Given the description of an element on the screen output the (x, y) to click on. 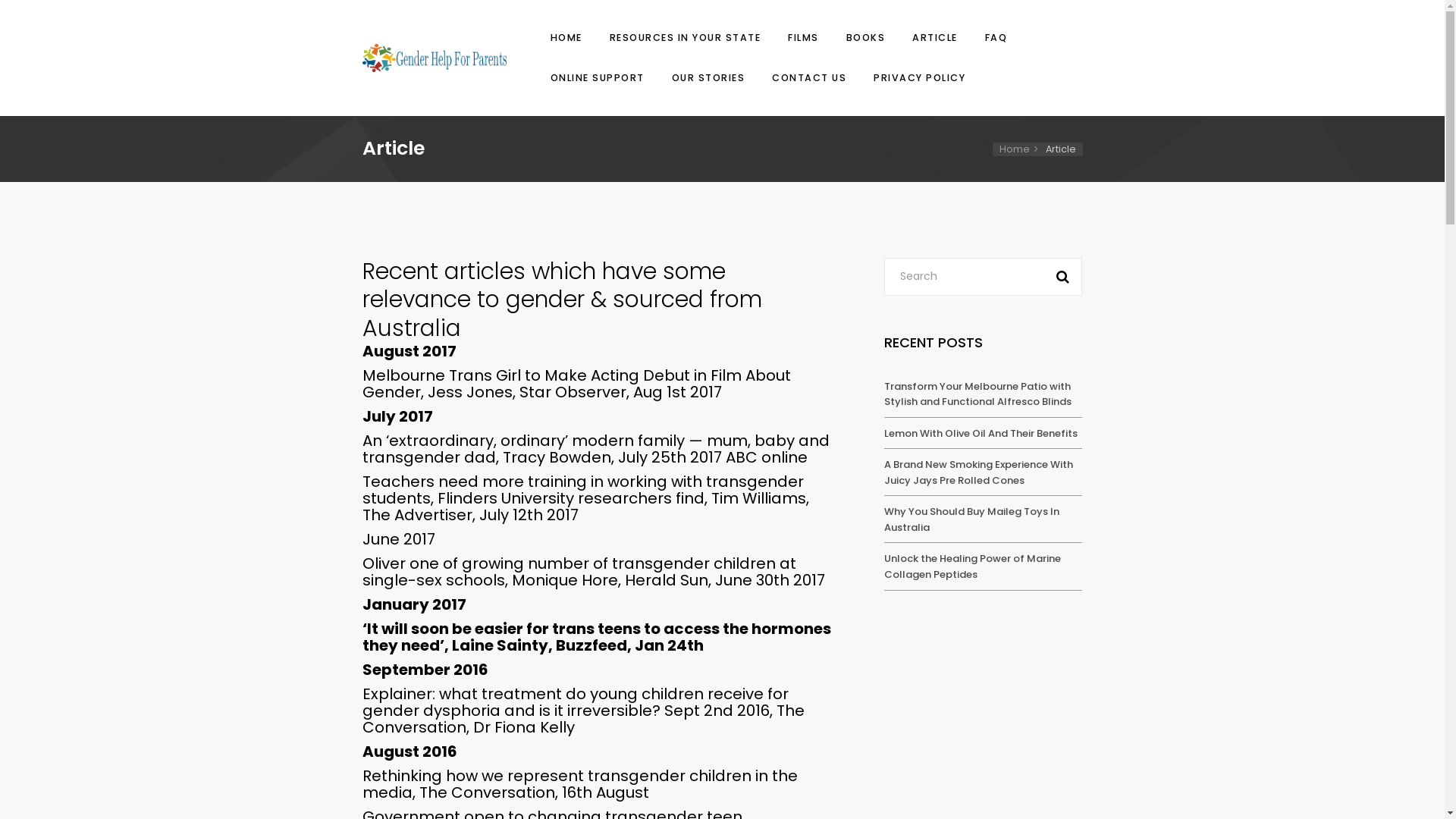
CONTACT US Element type: text (809, 77)
PRIVACY POLICY Element type: text (917, 77)
FAQ Element type: text (996, 38)
HOME Element type: text (565, 38)
ARTICLE Element type: text (934, 38)
Home Element type: text (1021, 148)
RESOURCES IN YOUR STATE Element type: text (684, 38)
Why You Should Buy Maileg Toys In Australia Element type: text (971, 519)
ONLINE SUPPORT Element type: text (596, 77)
OUR STORIES Element type: text (707, 77)
BOOKS Element type: text (864, 38)
Unlock the Healing Power of Marine Collagen Peptides Element type: text (972, 566)
Lemon With Olive Oil And Their Benefits Element type: text (980, 433)
FILMS Element type: text (803, 38)
